Given the description of an element on the screen output the (x, y) to click on. 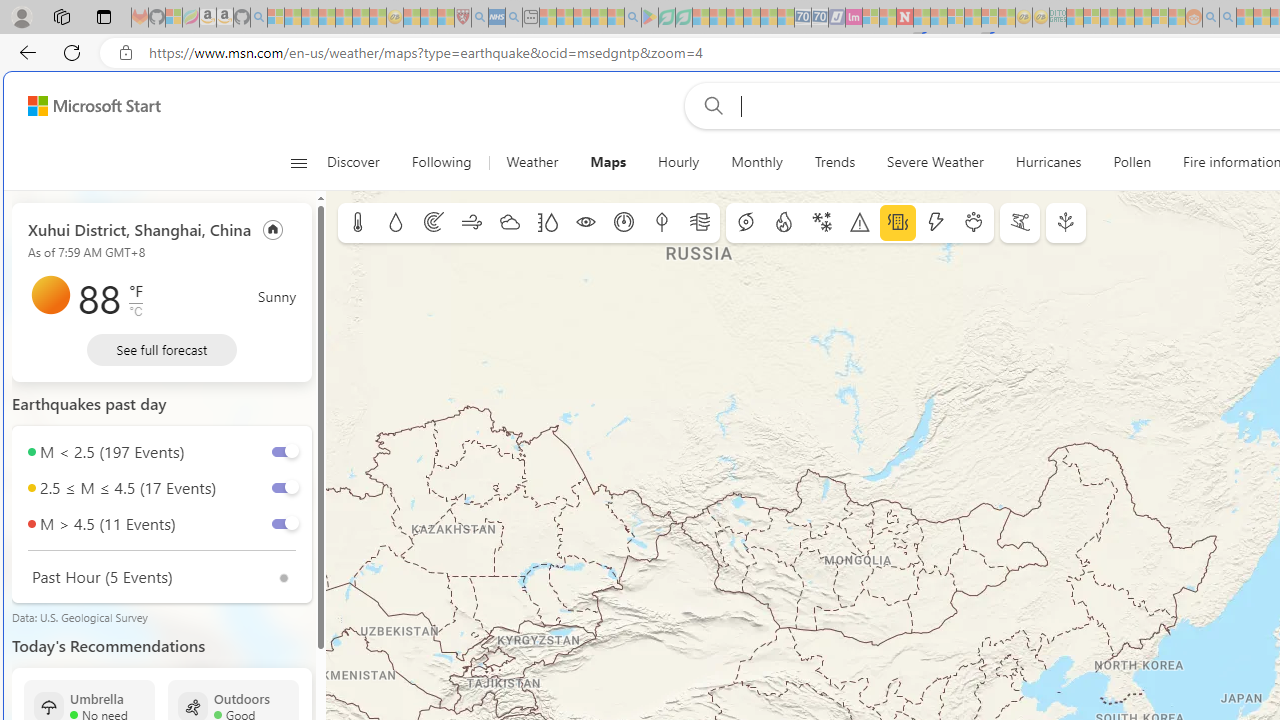
Winter weather (821, 223)
utah sues federal government - Search - Sleeping (513, 17)
Wind (472, 223)
Jobs - lastminute.com Investor Portal - Sleeping (853, 17)
See full forecast (161, 349)
Skip to footer (82, 105)
Discover (360, 162)
Monthly (756, 162)
Air quality (700, 223)
Set as primary location (273, 228)
